Given the description of an element on the screen output the (x, y) to click on. 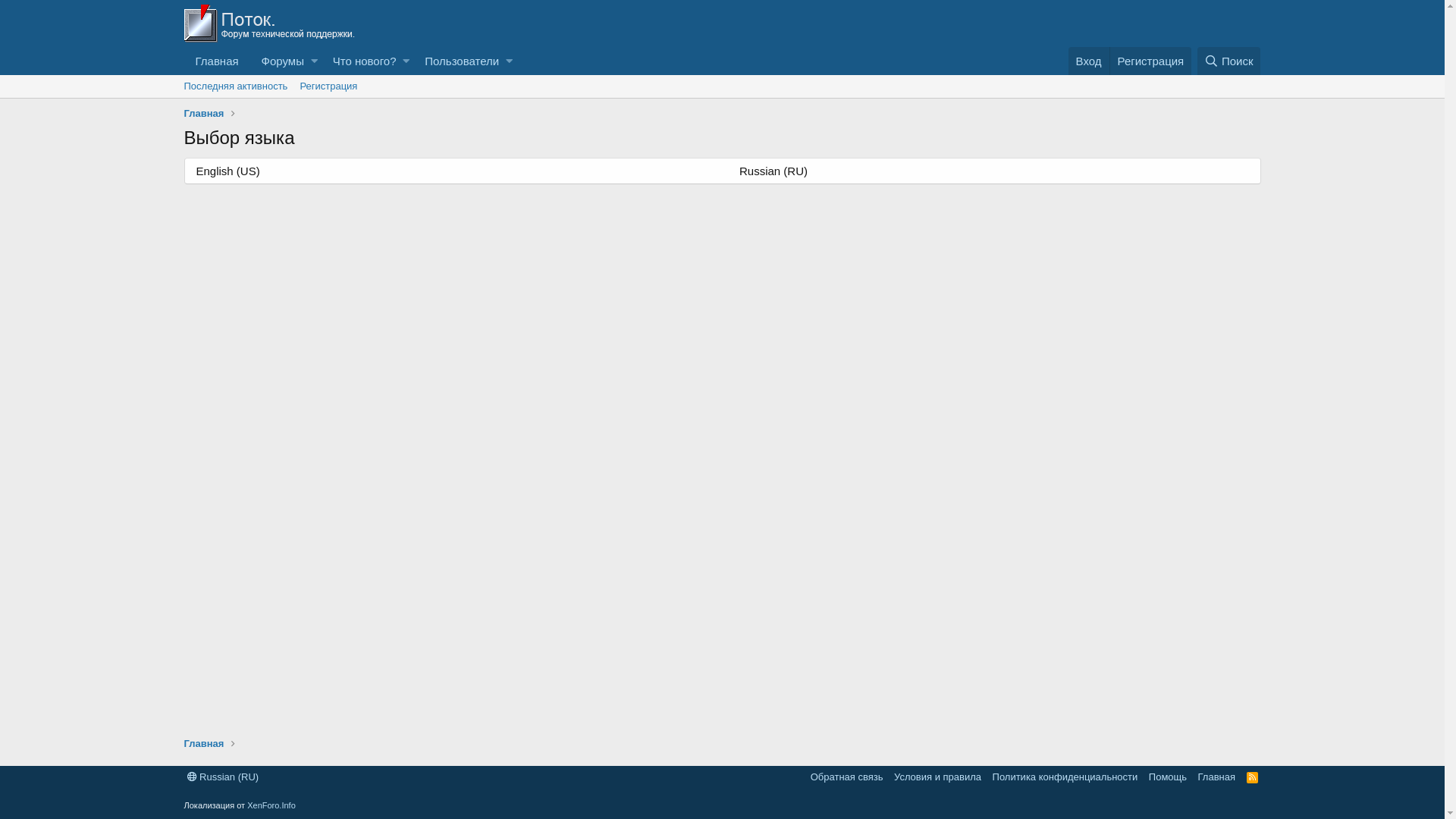
XenForo.Info Element type: text (271, 804)
Russian (RU) Element type: text (222, 776)
English (US) Element type: text (451, 170)
RSS Element type: text (1252, 776)
Russian (RU) Element type: text (994, 170)
